Given the description of an element on the screen output the (x, y) to click on. 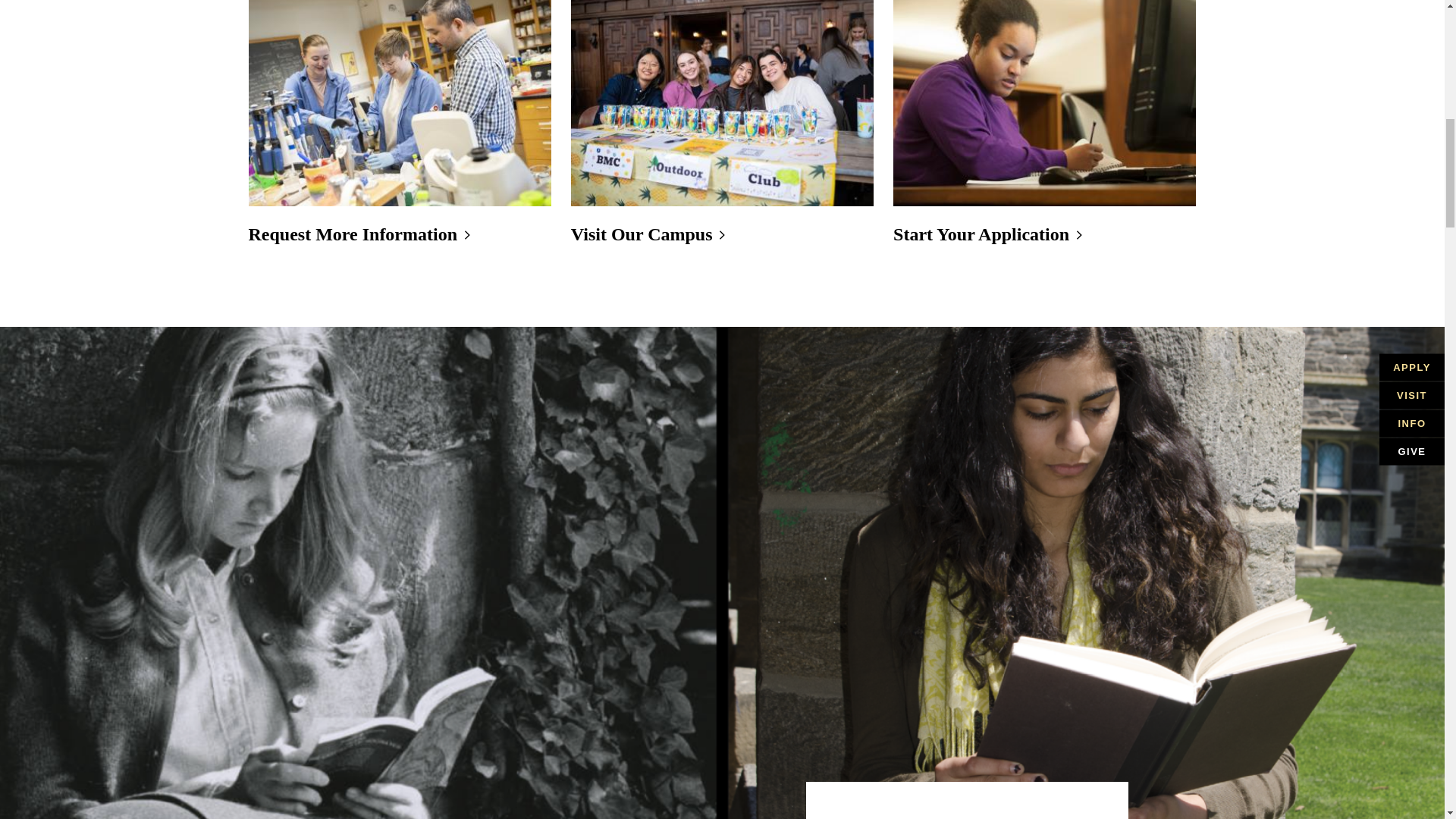
Visit Our Campus (641, 234)
Start Your Application (980, 234)
Request More Information (353, 234)
